Given the description of an element on the screen output the (x, y) to click on. 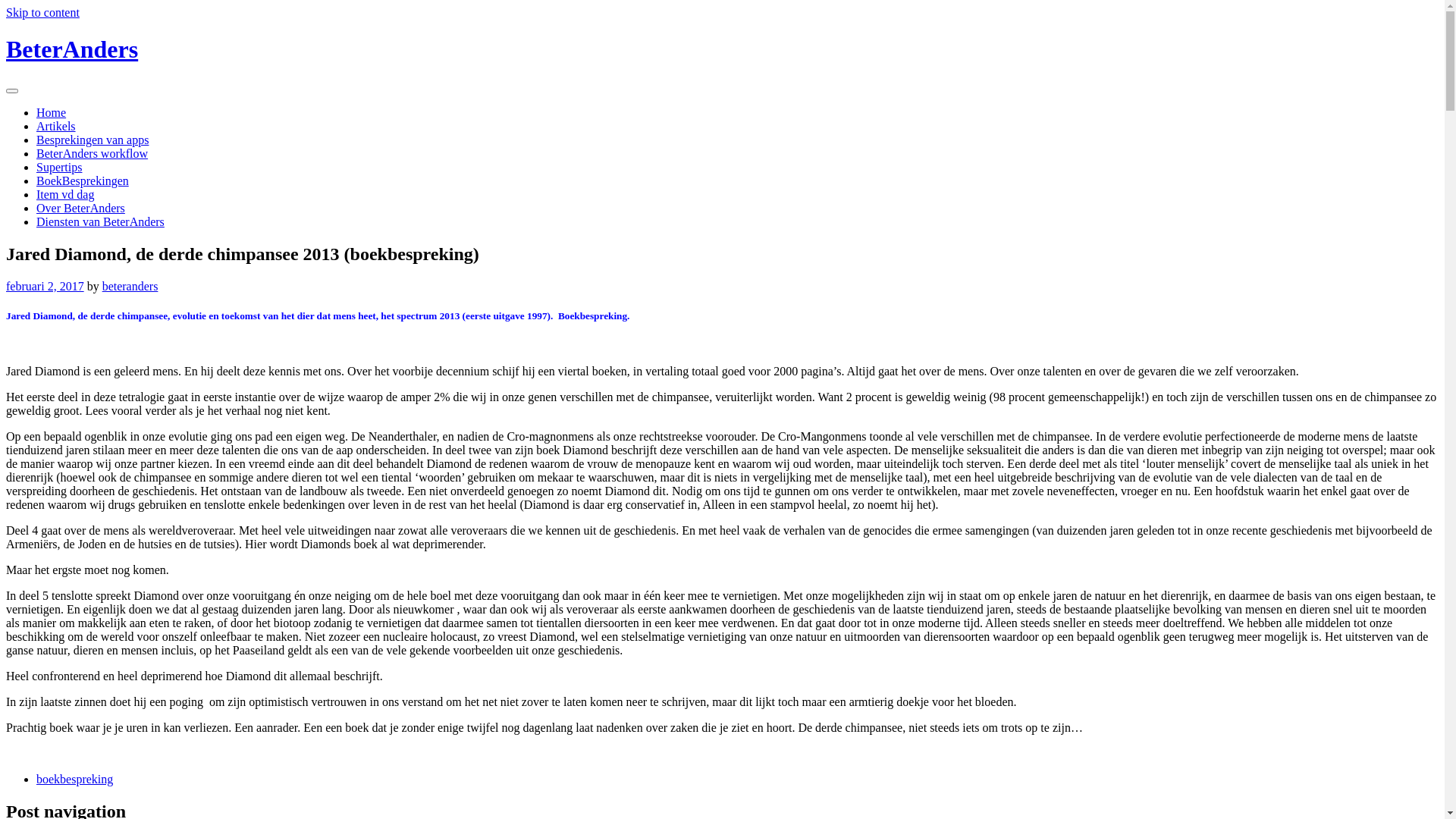
Artikels Element type: text (55, 125)
Supertips Element type: text (58, 166)
Diensten van BeterAnders Element type: text (100, 221)
boekbespreking Element type: text (74, 778)
Item vd dag Element type: text (65, 194)
Home Element type: text (50, 112)
februari 2, 2017 Element type: text (45, 285)
BoekBesprekingen Element type: text (82, 180)
Skip to content Element type: text (42, 12)
Over BeterAnders Element type: text (80, 207)
BeterAnders workflow Element type: text (91, 153)
BeterAnders Element type: text (72, 48)
Besprekingen van apps Element type: text (92, 139)
beteranders Element type: text (130, 285)
